Given the description of an element on the screen output the (x, y) to click on. 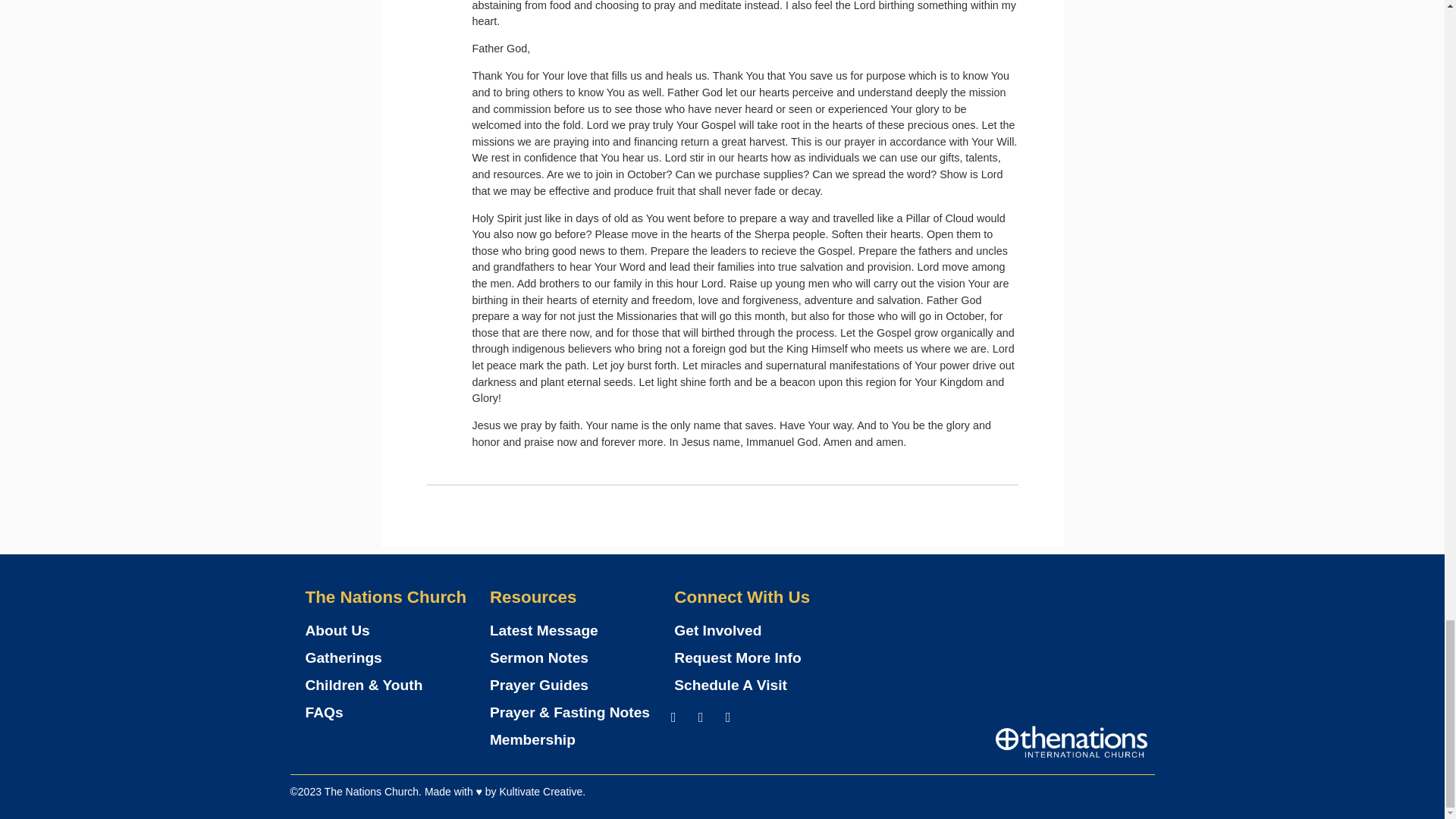
Prayer Guides (574, 685)
FAQs (389, 712)
Kultivate Creative (540, 791)
Gatherings (389, 658)
About Us (389, 630)
Schedule A Visit (776, 685)
Membership (574, 740)
Get Involved (776, 630)
Latest Message (574, 630)
Request More Info (776, 658)
